Given the description of an element on the screen output the (x, y) to click on. 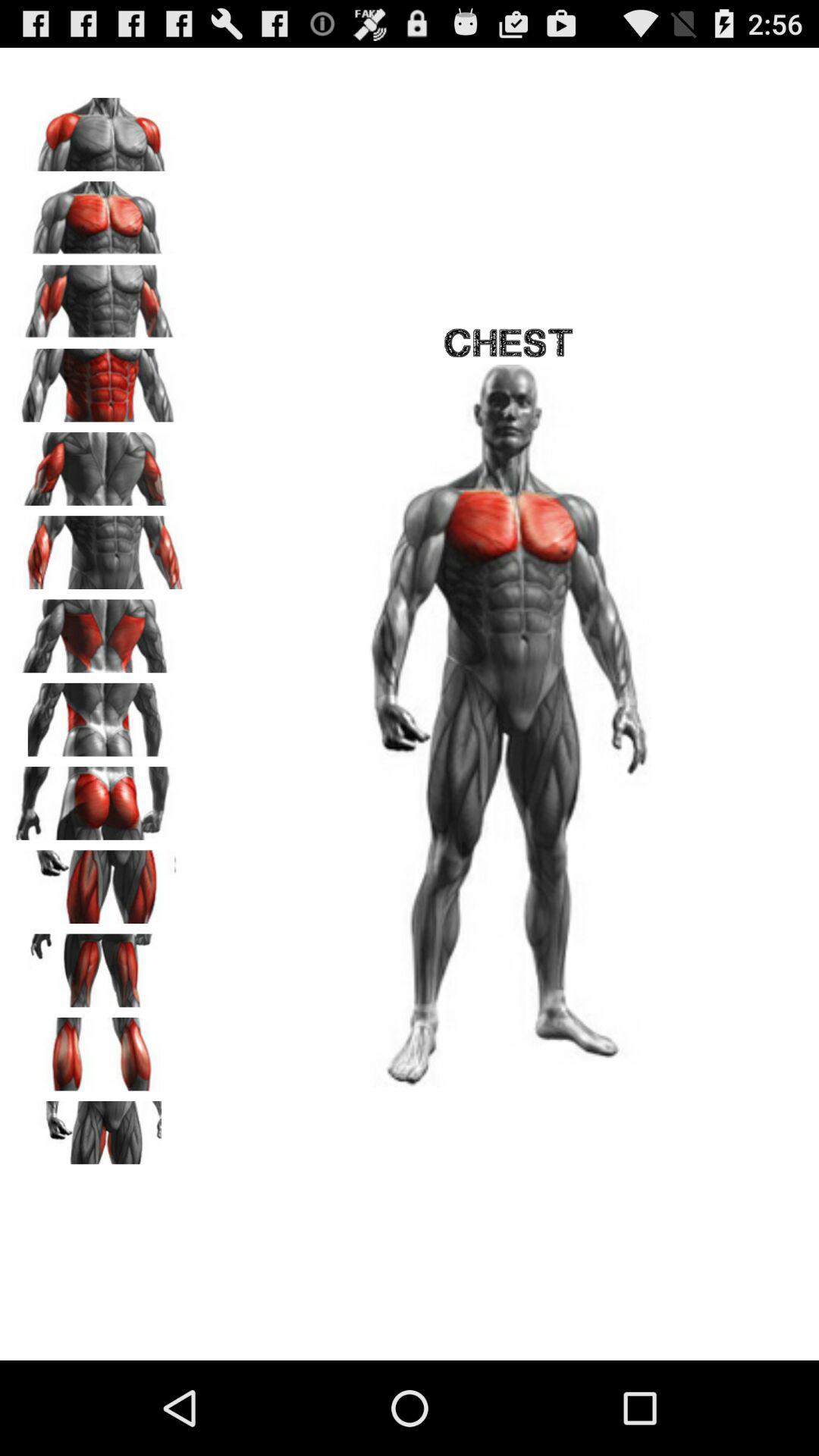
tapping this will give me information on building my shoulder muscles (99, 129)
